Given the description of an element on the screen output the (x, y) to click on. 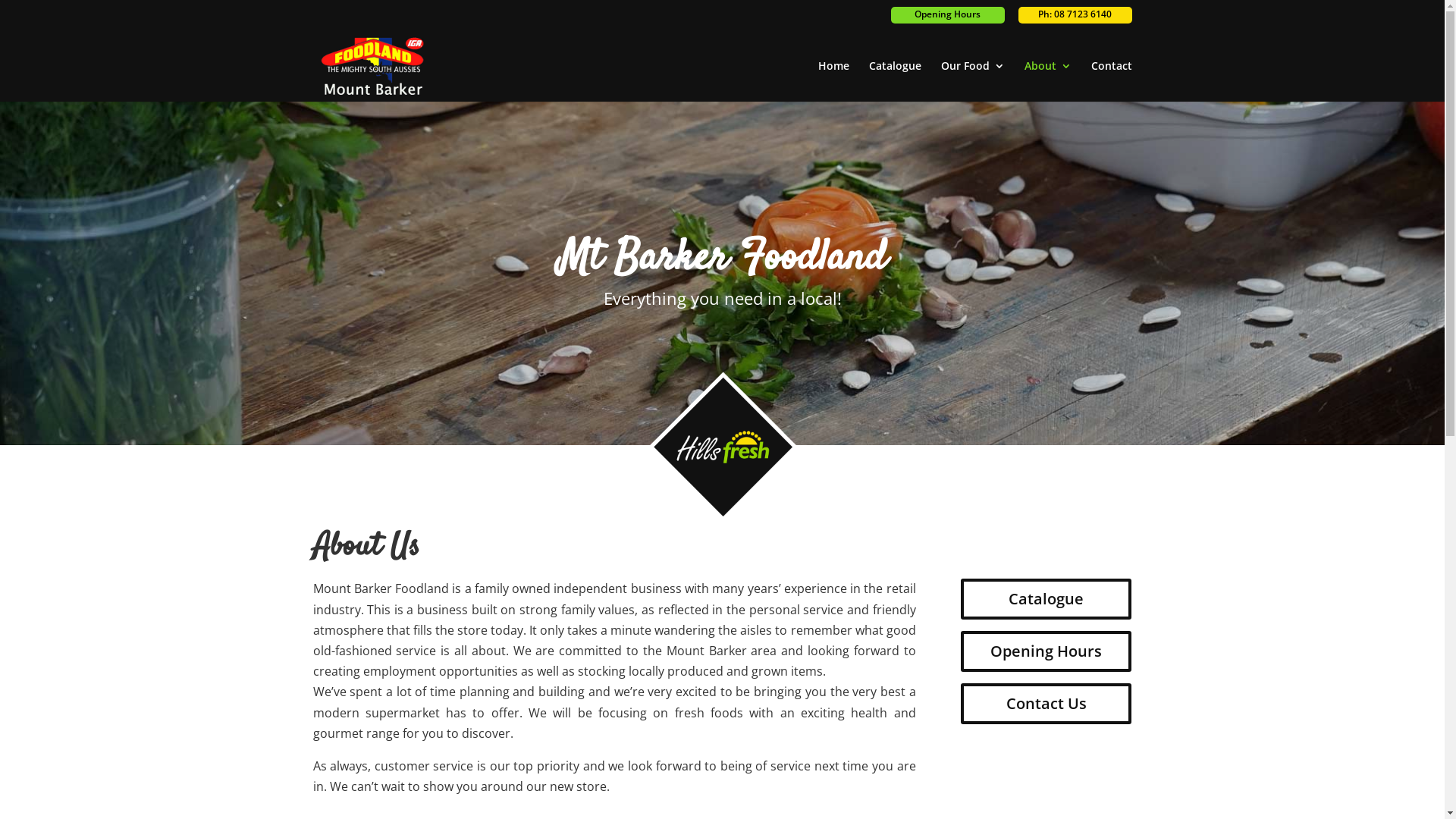
Catalogue Element type: text (895, 80)
Our Food Element type: text (972, 80)
About Element type: text (1046, 80)
Contact Us Element type: text (1045, 703)
Opening Hours Element type: text (946, 14)
Contact Element type: text (1110, 80)
Opening Hours Element type: text (1045, 650)
Home Element type: text (832, 80)
Ph: 08 7123 6140 Element type: text (1074, 14)
Catalogue Element type: text (1045, 598)
